Given the description of an element on the screen output the (x, y) to click on. 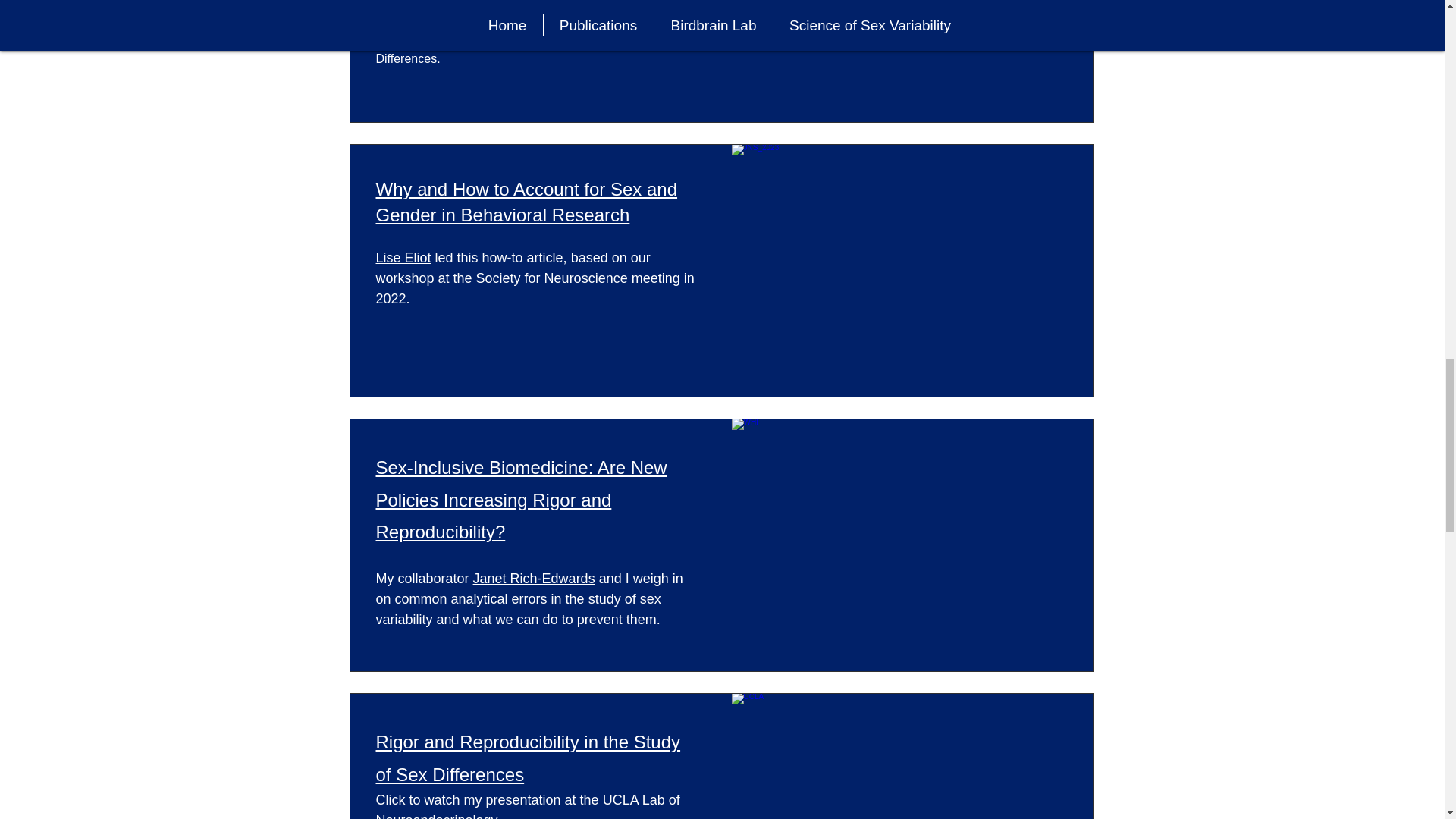
Janet Rich-Edwards (534, 578)
Rigor and Reproducibility in the Study of Sex Differences (528, 756)
Lise Eliot (402, 257)
